Given the description of an element on the screen output the (x, y) to click on. 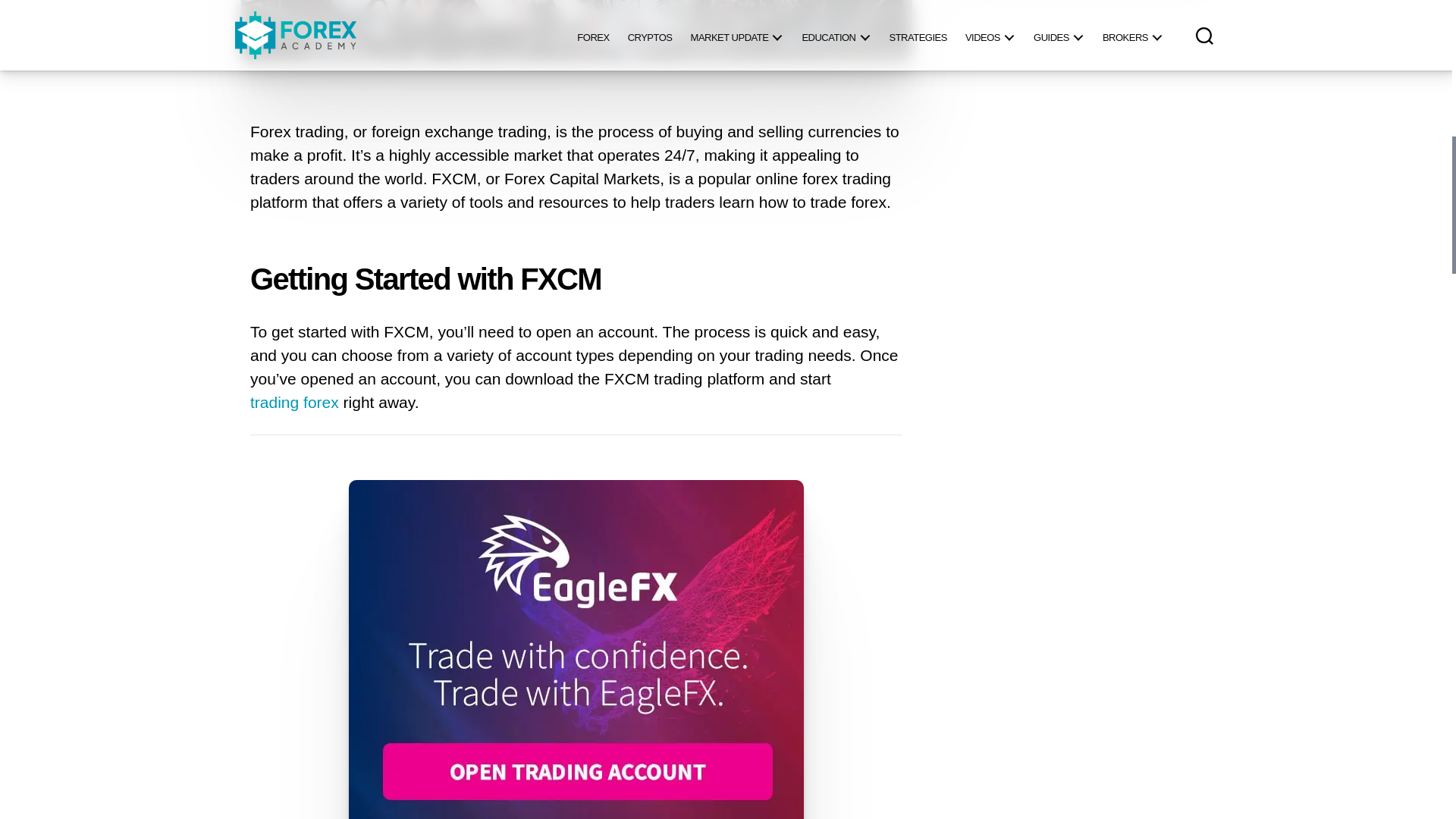
trading forex (294, 402)
